Given the description of an element on the screen output the (x, y) to click on. 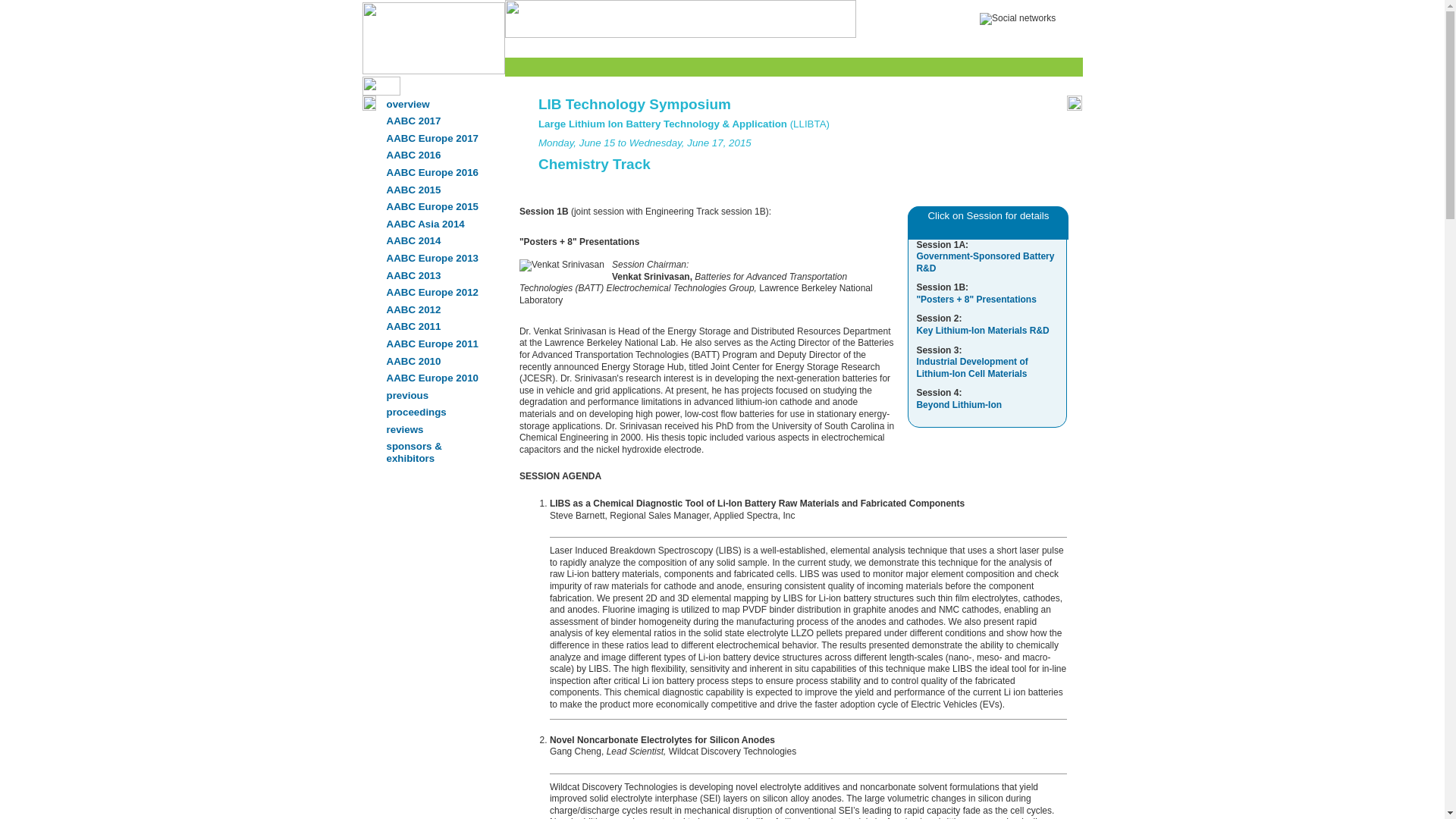
proceedings (814, 47)
AABC 2015 (433, 189)
conferences (584, 47)
register (1001, 47)
AABC Europe 2016 (433, 171)
contact us (942, 47)
AABC 2017 (433, 120)
about us (882, 47)
AABC Europe 2017 (433, 138)
AABC Europe 2015 (433, 206)
AABC 2016 (433, 154)
overview (433, 104)
home (526, 47)
press (756, 47)
